Given the description of an element on the screen output the (x, y) to click on. 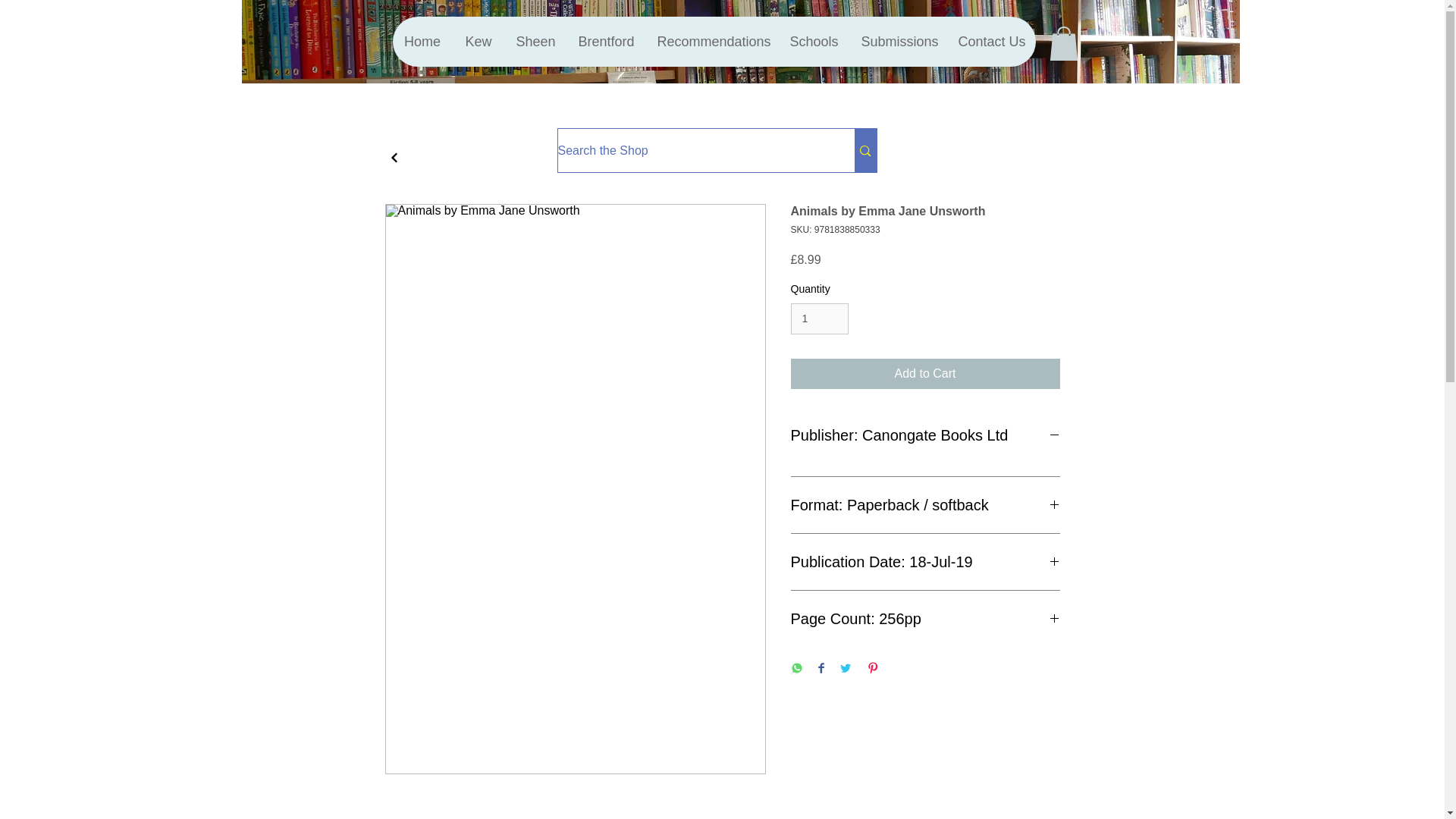
Publisher: Canongate Books Ltd (924, 435)
Contact Us (990, 41)
Sheen (534, 41)
Brentford (605, 41)
1 (818, 318)
Schools (812, 41)
Publication Date: 18-Jul-19 (924, 561)
Home (422, 41)
Kew (477, 41)
Add to Cart (924, 373)
Page Count: 256pp (924, 618)
Submissions (897, 41)
